Given the description of an element on the screen output the (x, y) to click on. 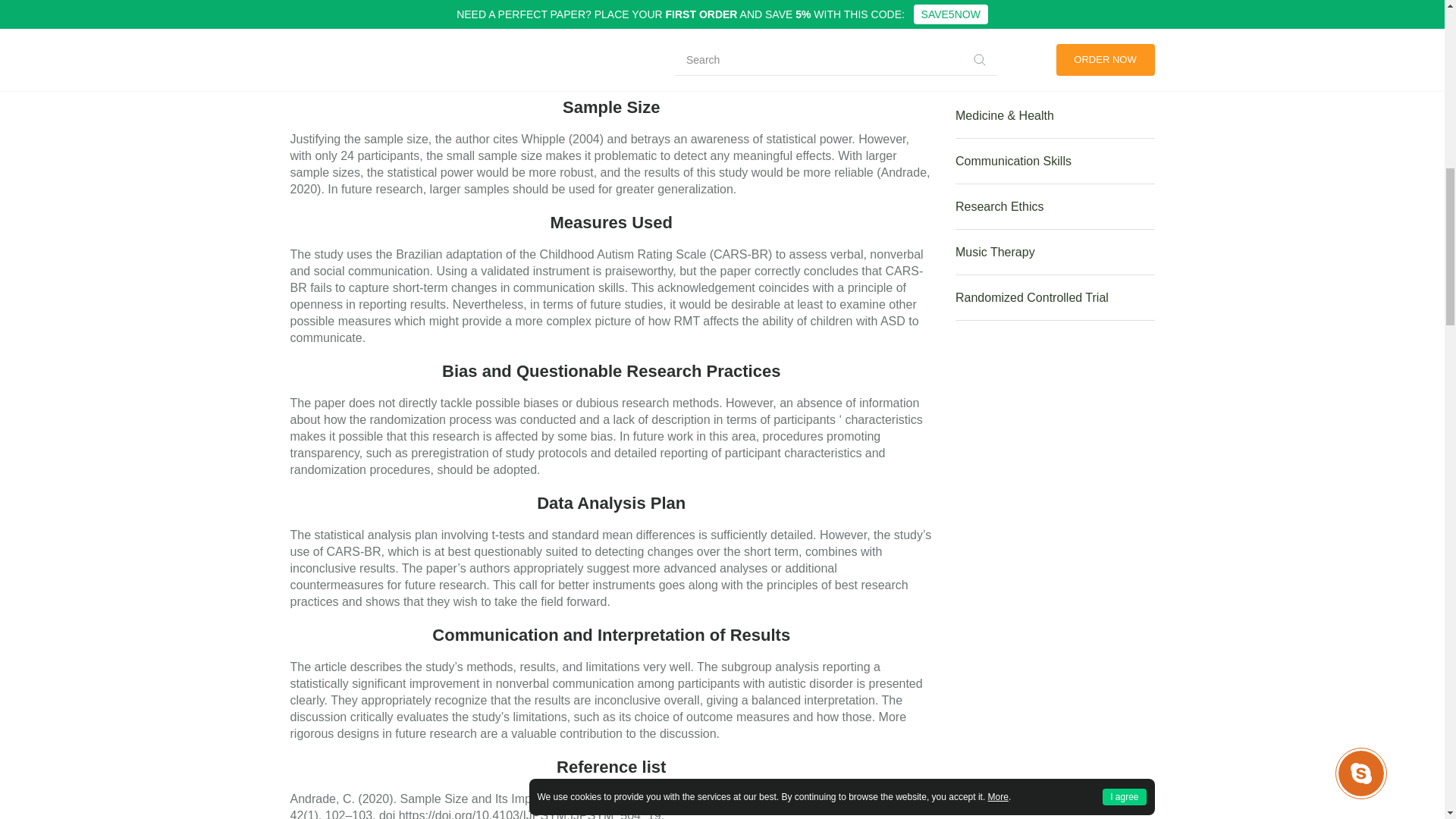
Research Ethics (1054, 207)
Randomized Controlled Trial (1054, 298)
Communication Skills (1054, 161)
Music Therapy (1054, 252)
